Given the description of an element on the screen output the (x, y) to click on. 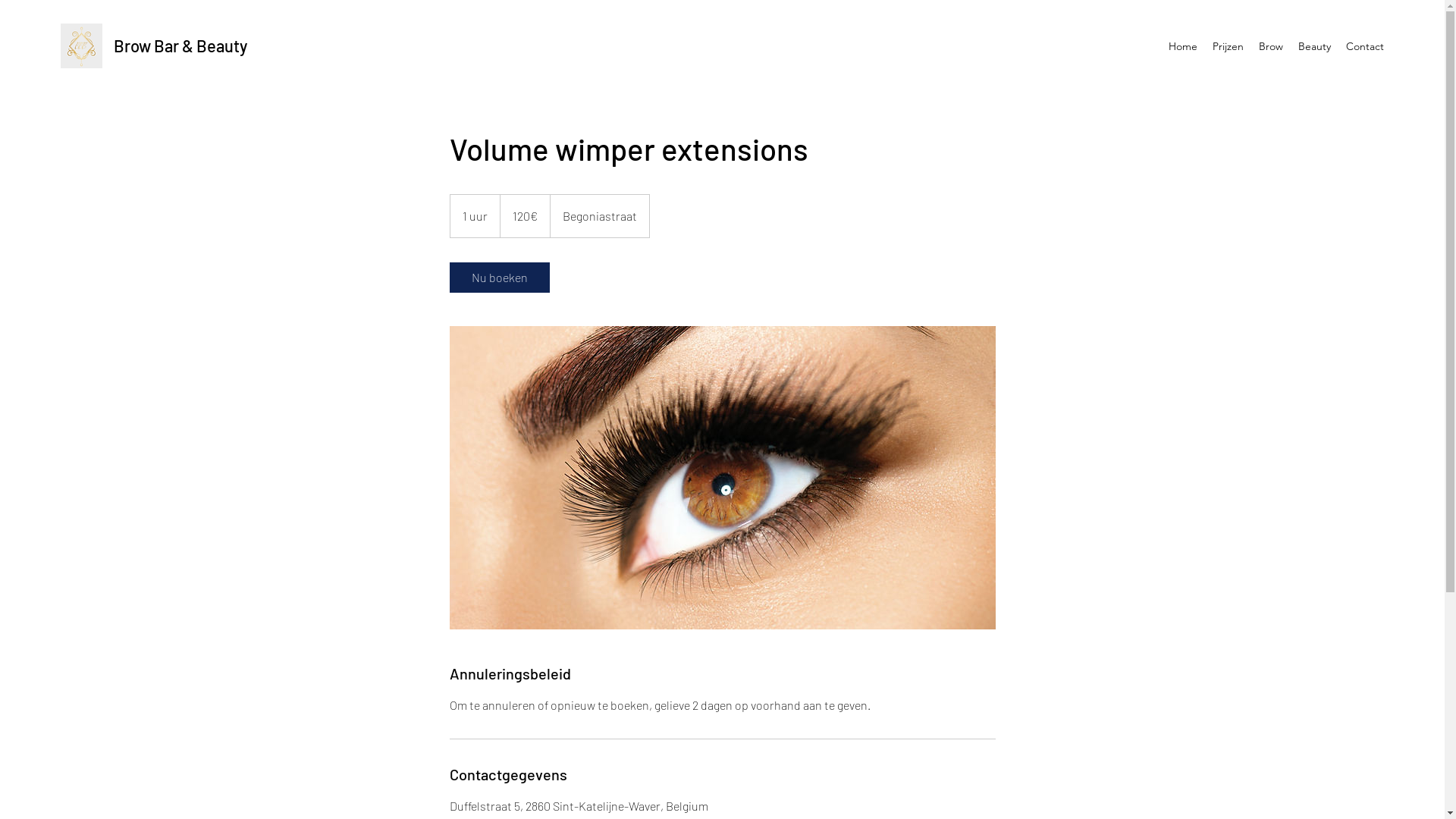
Nu boeken Element type: text (498, 277)
Brow Element type: text (1270, 45)
Prijzen Element type: text (1227, 45)
Home Element type: text (1182, 45)
Contact Element type: text (1364, 45)
Brow Bar & Beauty Element type: text (180, 45)
Beauty Element type: text (1314, 45)
